Given the description of an element on the screen output the (x, y) to click on. 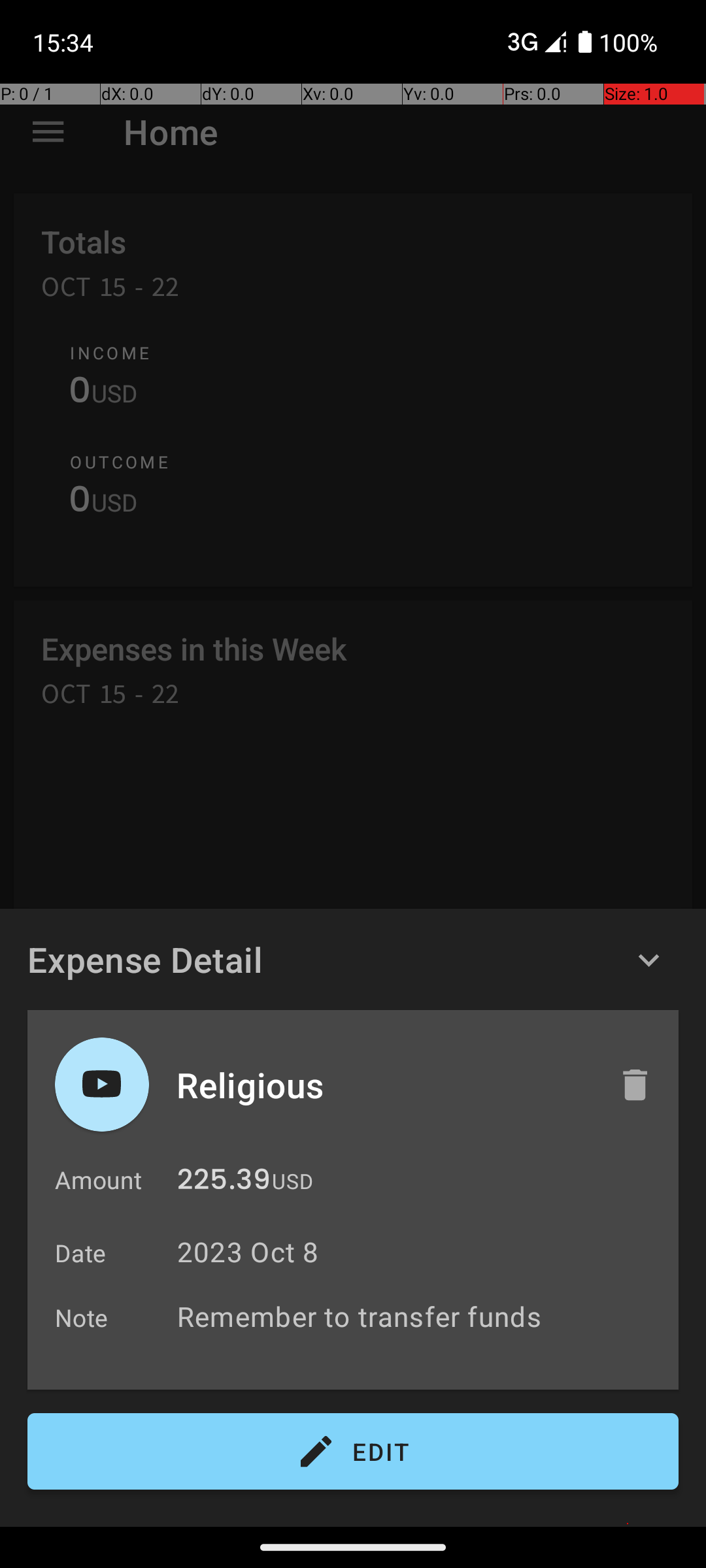
Religious Element type: android.widget.TextView (383, 1084)
225.39 Element type: android.widget.TextView (223, 1182)
2023 Oct 8 Element type: android.widget.TextView (247, 1251)
